Given the description of an element on the screen output the (x, y) to click on. 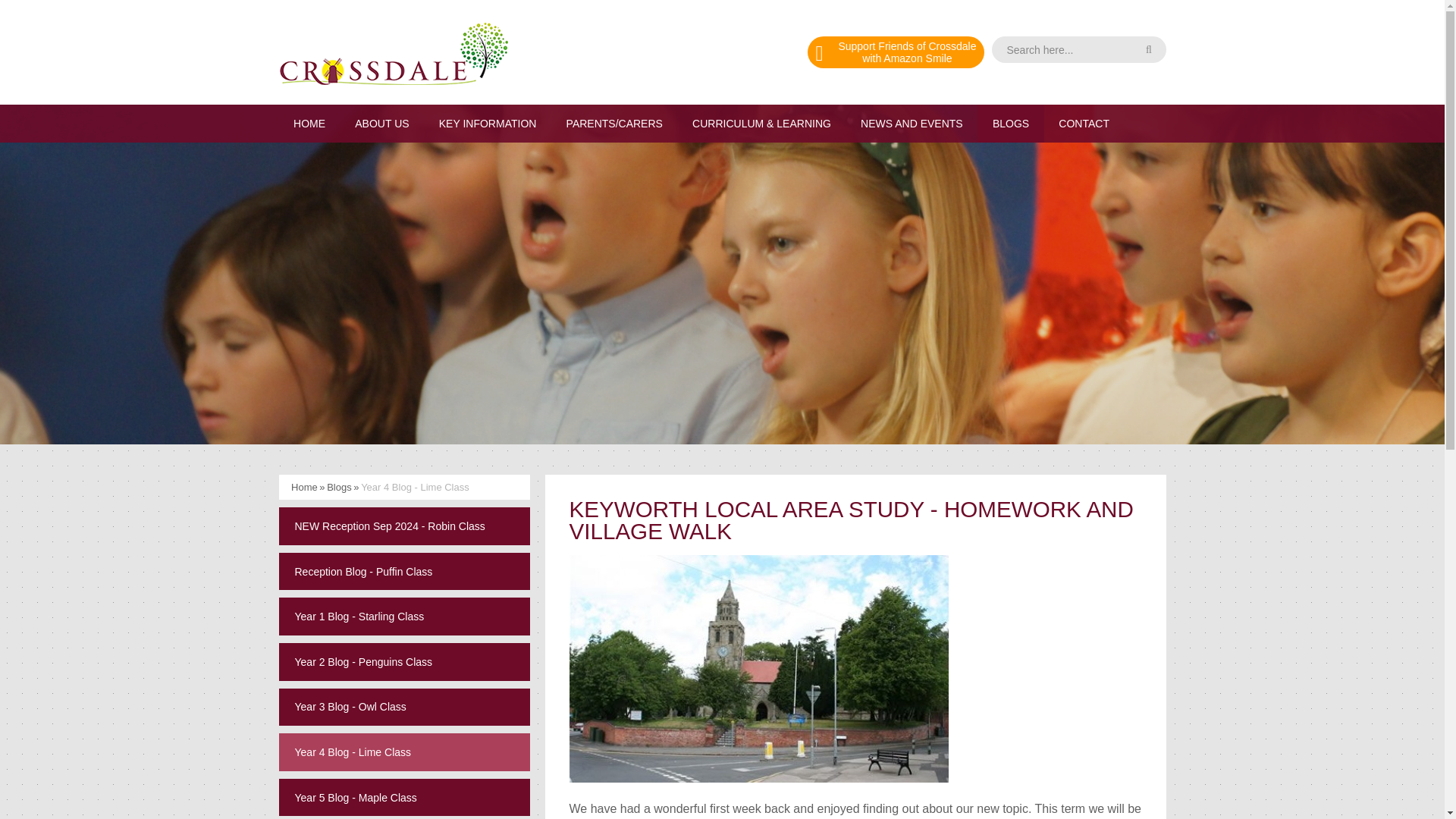
search... (1078, 49)
Search here... (896, 51)
ABOUT US (1078, 49)
HOME (382, 123)
KEY INFORMATION (309, 123)
